Given the description of an element on the screen output the (x, y) to click on. 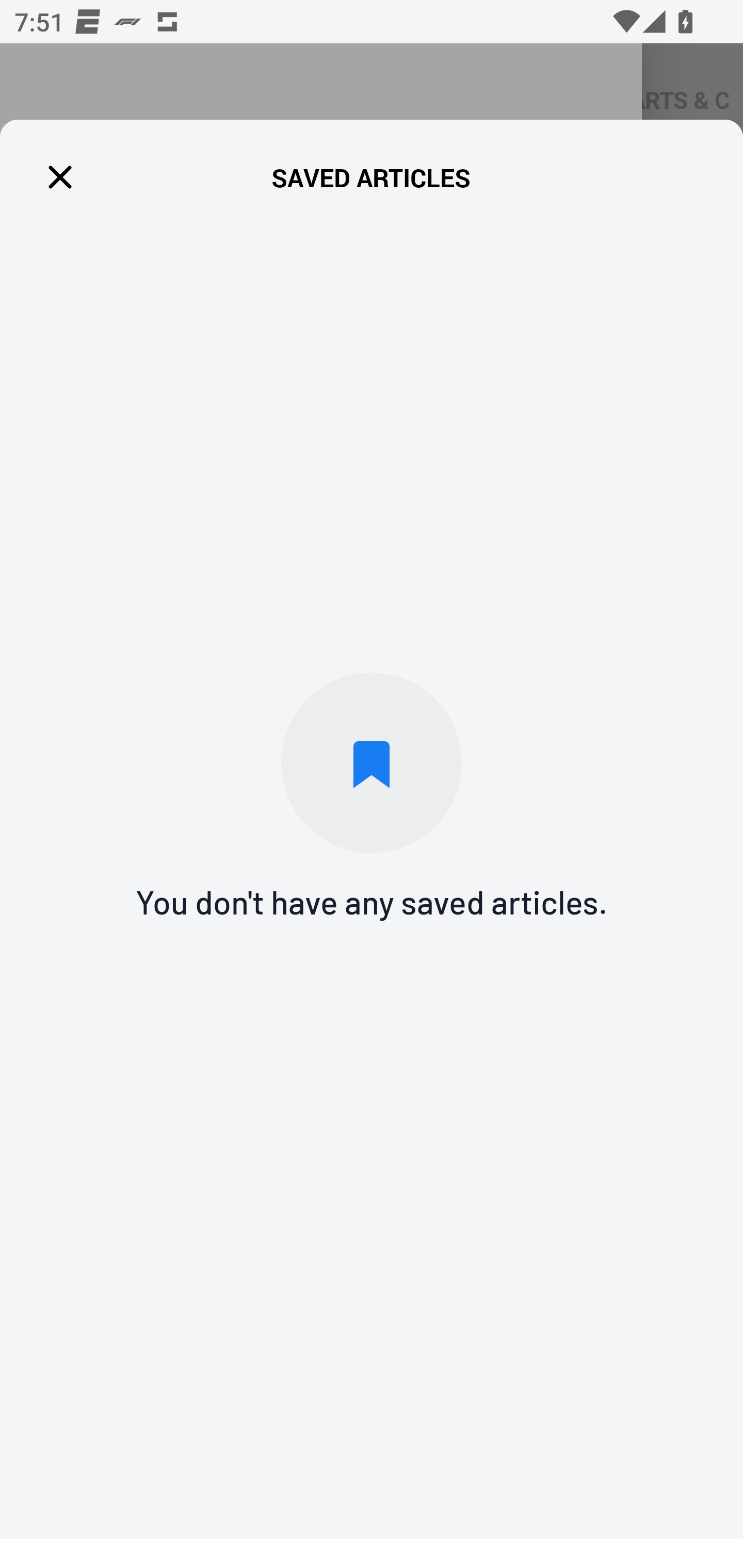
Close sheet (371, 81)
Leading Icon (60, 177)
